Given the description of an element on the screen output the (x, y) to click on. 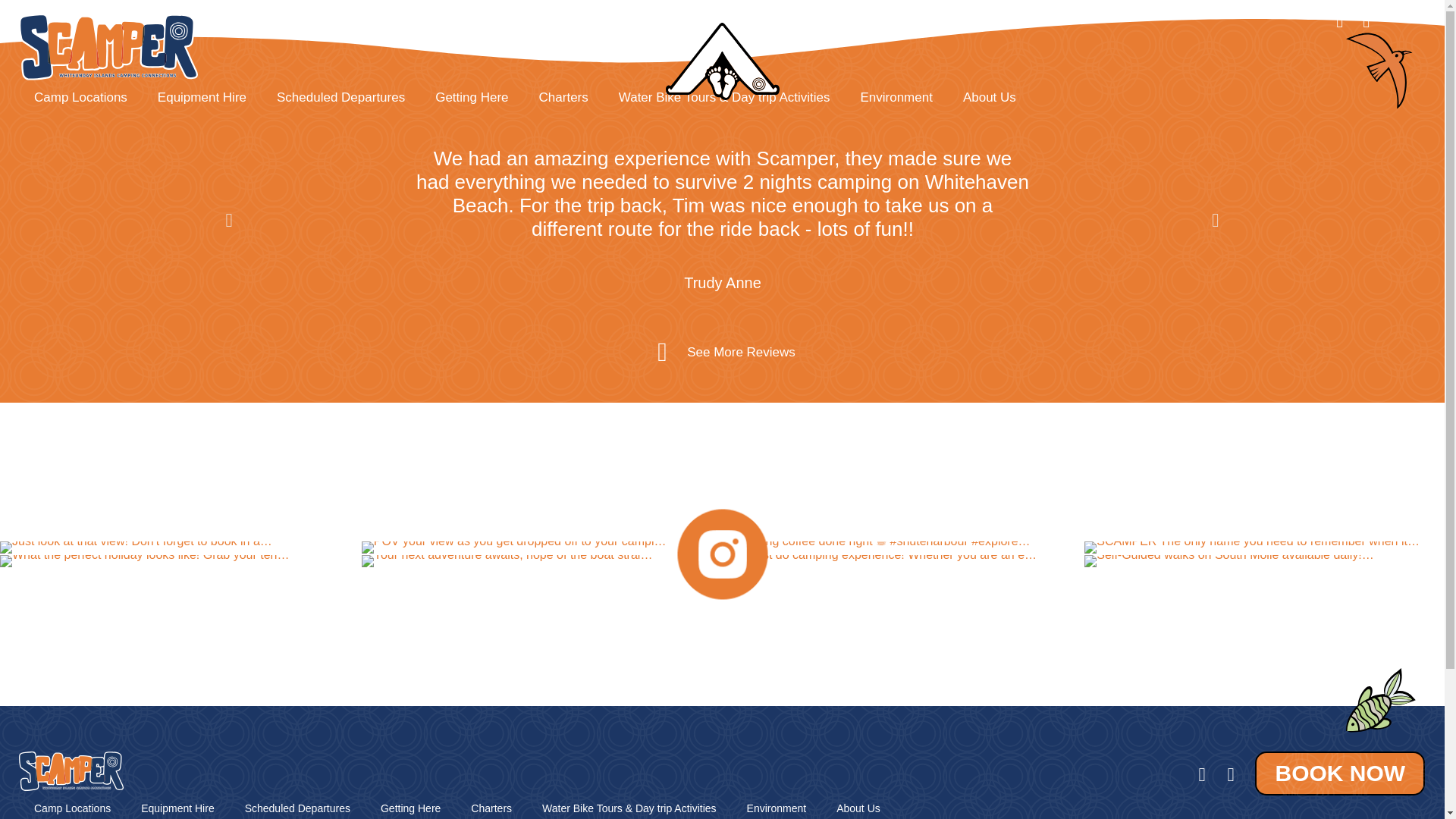
Equipment Hire (177, 805)
Scheduled Departures (297, 805)
Environment (895, 97)
Charters (491, 805)
Charters (564, 97)
Getting Here (410, 805)
About Us (858, 805)
Camp Locations (71, 805)
Camp Locations (80, 97)
About Us (988, 97)
Environment (777, 805)
Getting Here (471, 97)
Scheduled Departures (341, 97)
Equipment Hire (202, 97)
See More Reviews (740, 351)
